Given the description of an element on the screen output the (x, y) to click on. 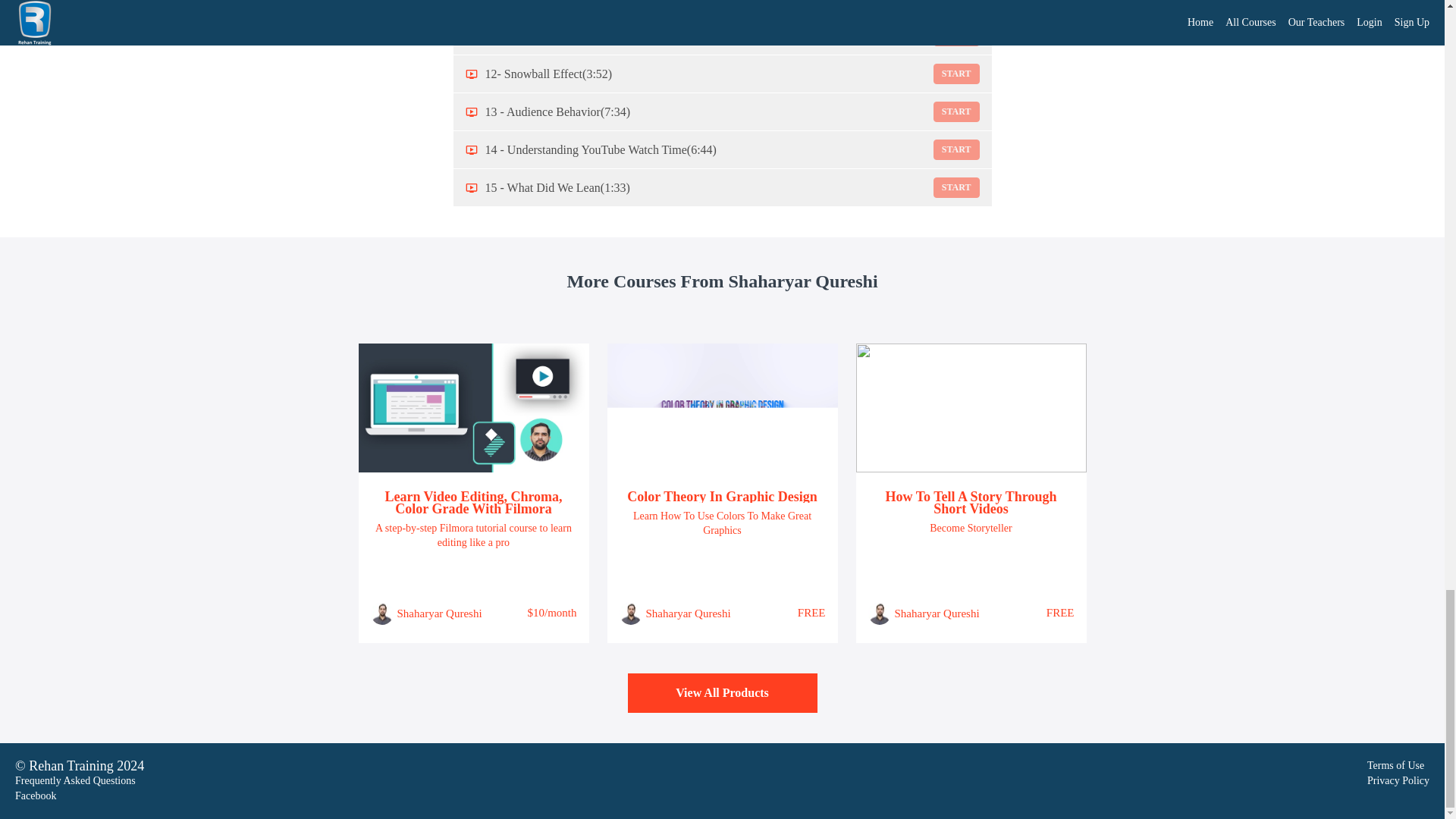
START (956, 4)
START (956, 35)
Learn How To Use Colors To Make Great Graphics (721, 522)
START (956, 111)
Color Theory In Graphic Design (721, 496)
How To Tell A Story Through Short Videos (970, 502)
START (956, 73)
Shaharyar Qureshi (439, 612)
Shaharyar Qureshi (937, 612)
Become Storyteller (970, 527)
